Given the description of an element on the screen output the (x, y) to click on. 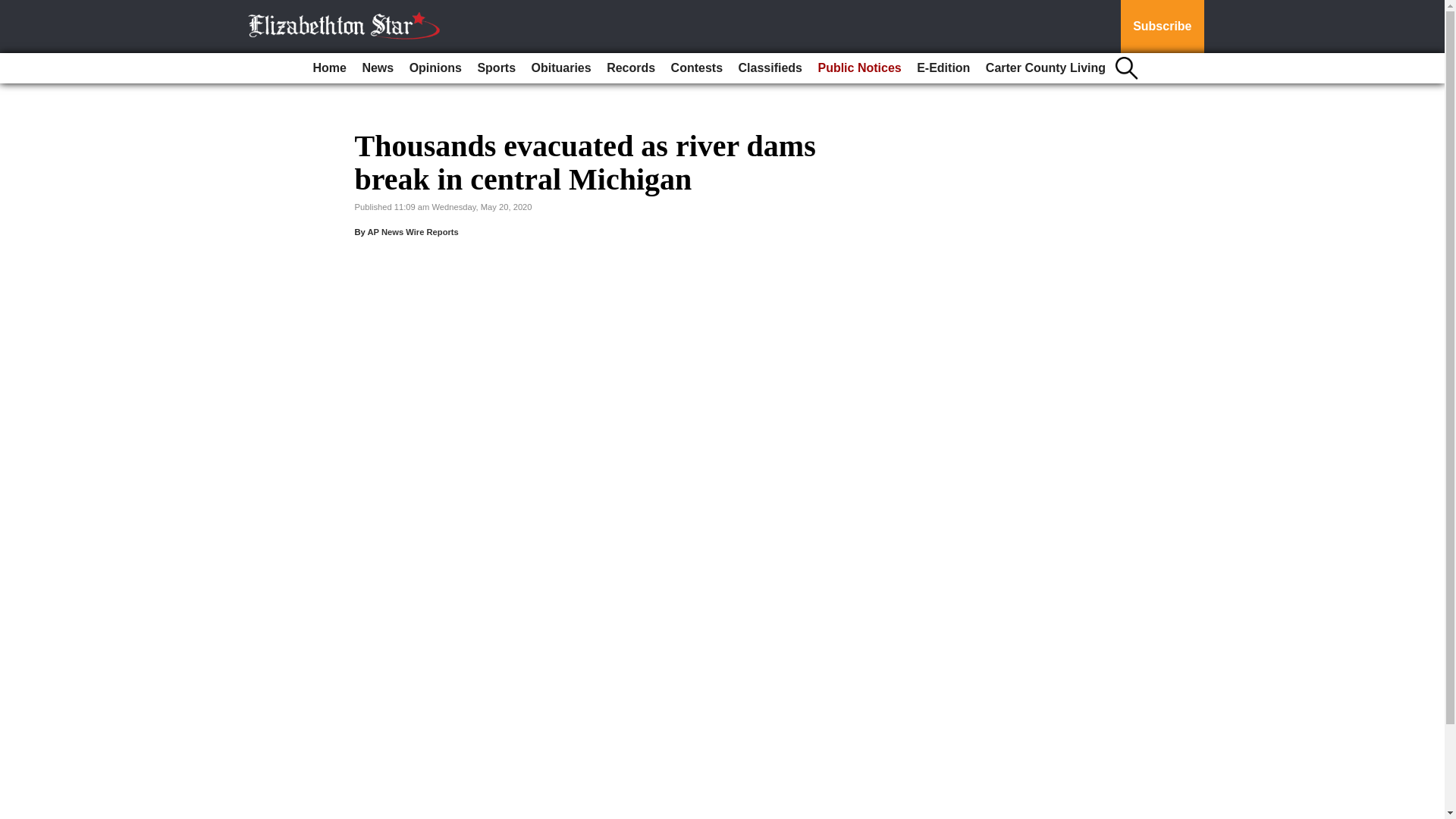
Home (328, 68)
Go (13, 9)
Sports (495, 68)
Contests (697, 68)
News (376, 68)
Records (630, 68)
E-Edition (943, 68)
Obituaries (560, 68)
Subscribe (1162, 26)
Public Notices (858, 68)
